Given the description of an element on the screen output the (x, y) to click on. 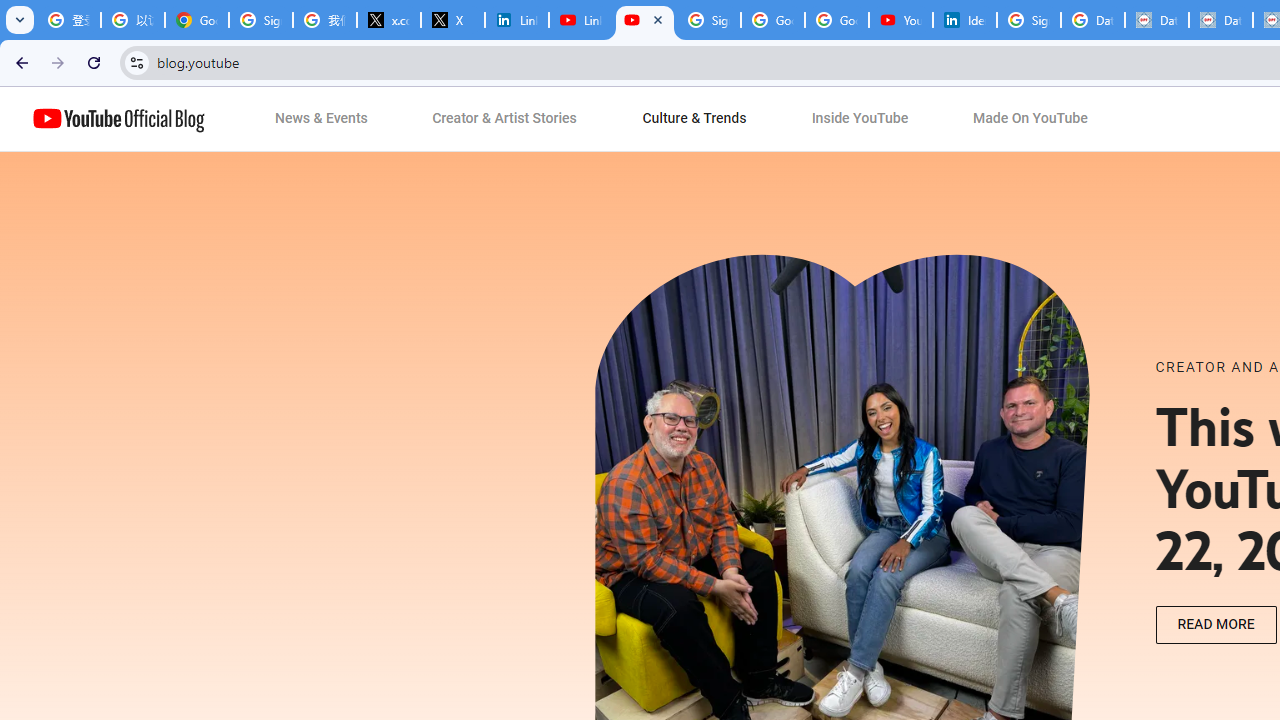
YouTube Official Blog logo (118, 119)
